Given the description of an element on the screen output the (x, y) to click on. 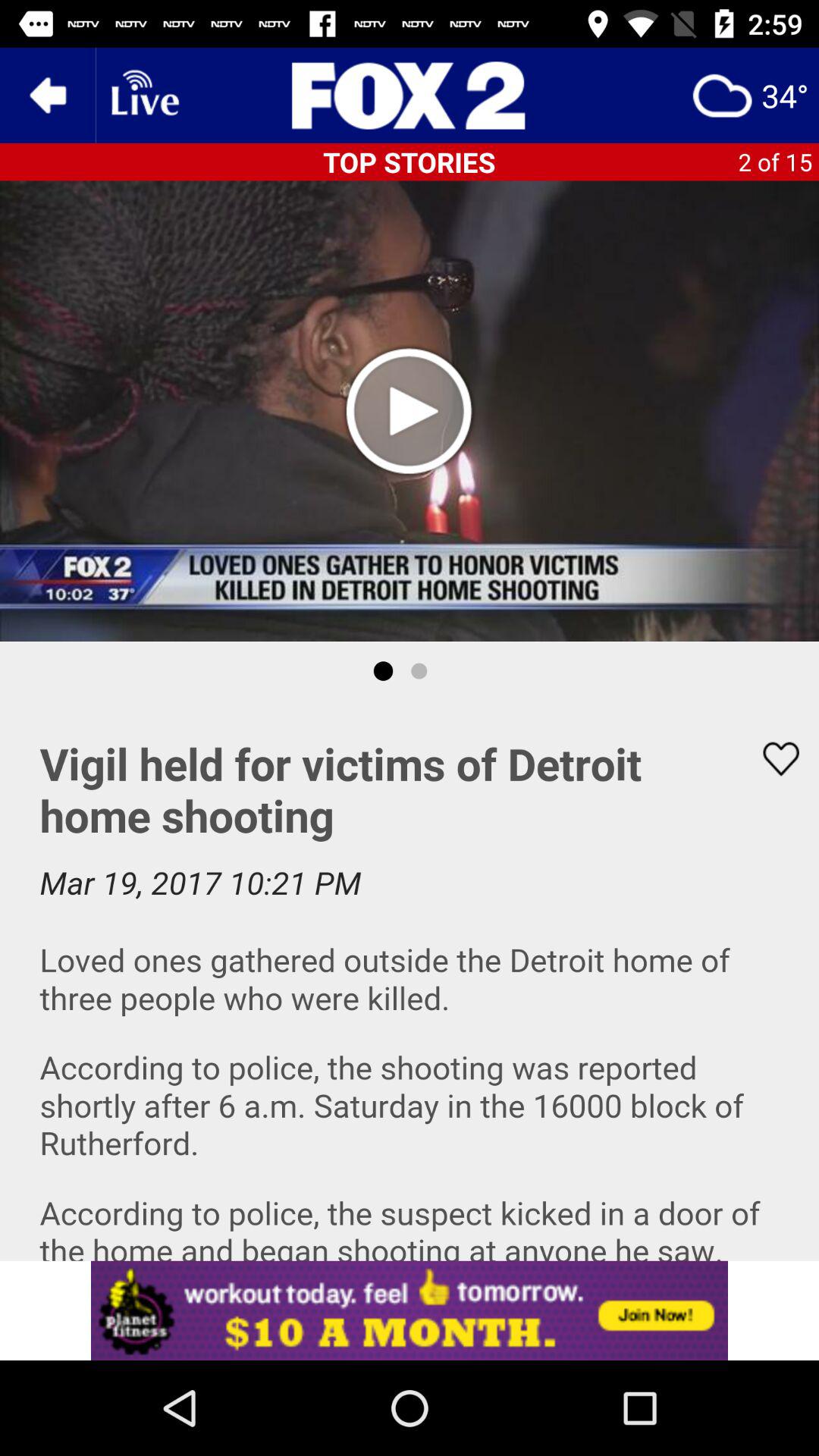
go to live page (143, 95)
